Given the description of an element on the screen output the (x, y) to click on. 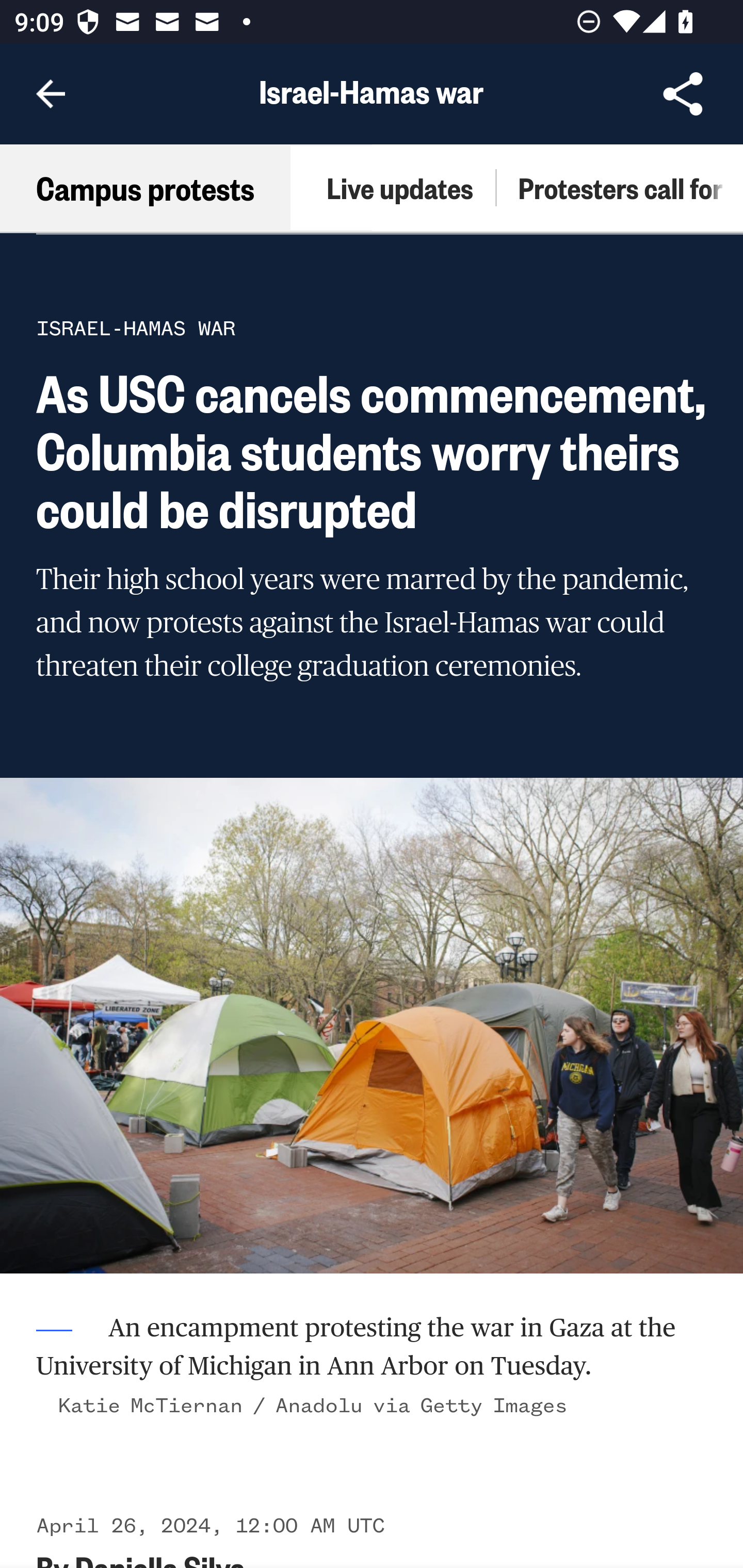
Navigate up (50, 93)
Share Article, button (683, 94)
